Given the description of an element on the screen output the (x, y) to click on. 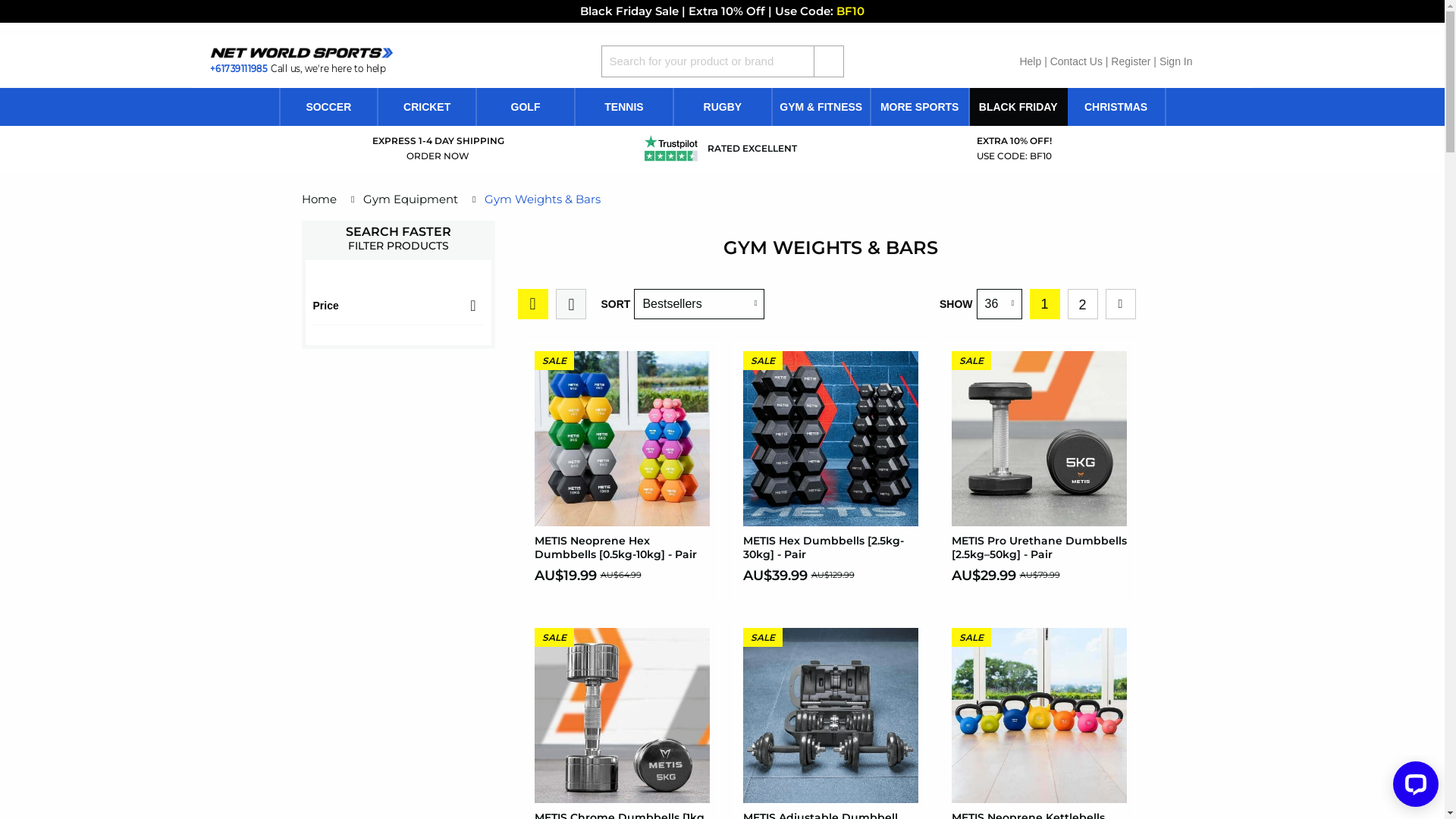
Home Element type: text (318, 198)
CRICKET Element type: text (426, 106)
GYM & FITNESS Element type: text (820, 106)
Gym Equipment Element type: text (409, 198)
SOCCER Element type: text (328, 106)
CHRISTMAS Element type: text (1115, 106)
BLACK FRIDAY Element type: text (1017, 106)
RATED EXCELLENT Element type: text (751, 148)
*Trustpilot Rating = Excellent* Element type: hover (670, 147)
Register Element type: text (1130, 61)
Sign In Element type: text (1175, 61)
Contact Us Element type: text (1076, 61)
TENNIS Element type: text (623, 106)
Net World Sports Element type: hover (291, 52)
Help Element type: text (1030, 61)
MORE SPORTS Element type: text (919, 106)
GOLF Element type: text (525, 106)
RUGBY Element type: text (722, 106)
